Given the description of an element on the screen output the (x, y) to click on. 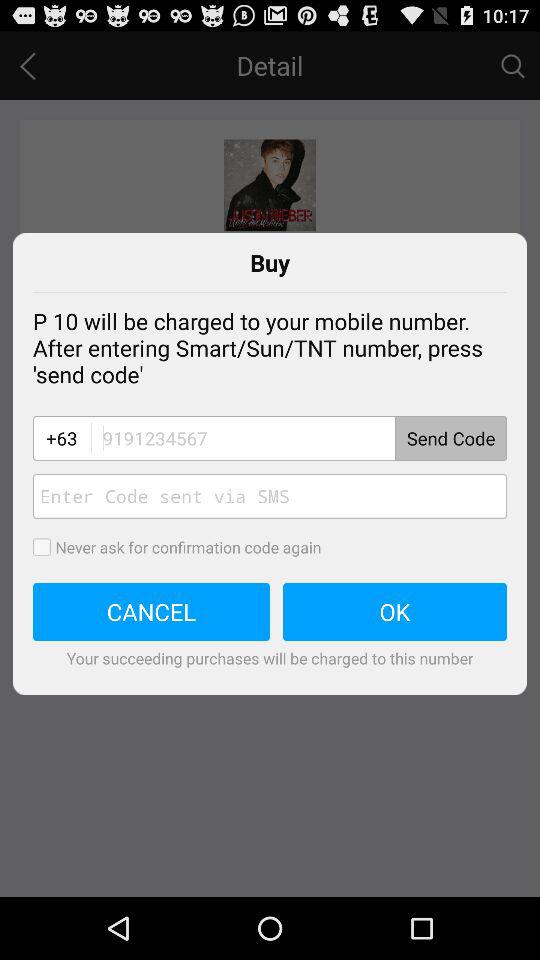
tap the button next to cancel button (395, 611)
